Given the description of an element on the screen output the (x, y) to click on. 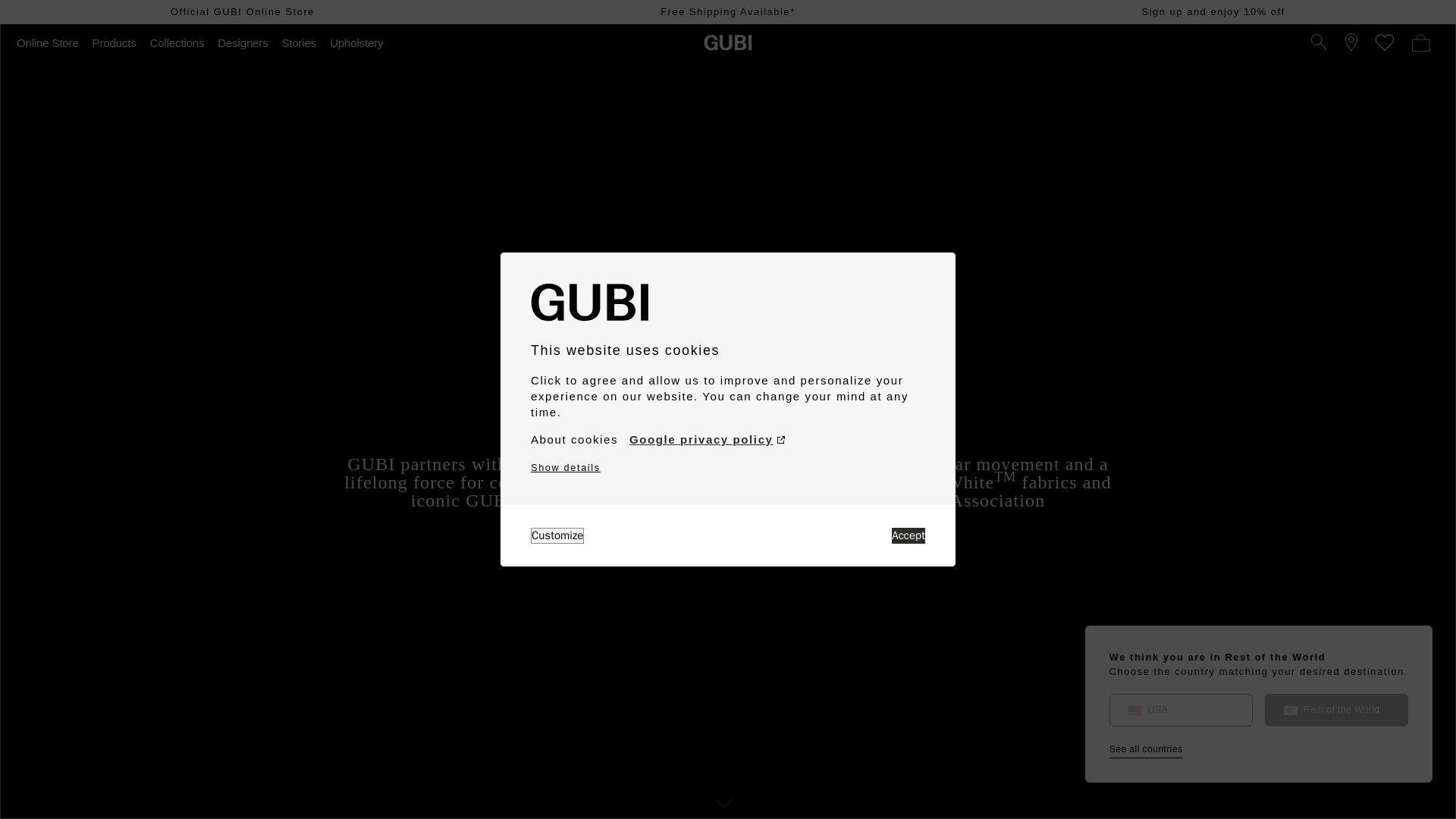
Google privacy policy (707, 439)
Show details (565, 467)
About cookies (574, 439)
